Given the description of an element on the screen output the (x, y) to click on. 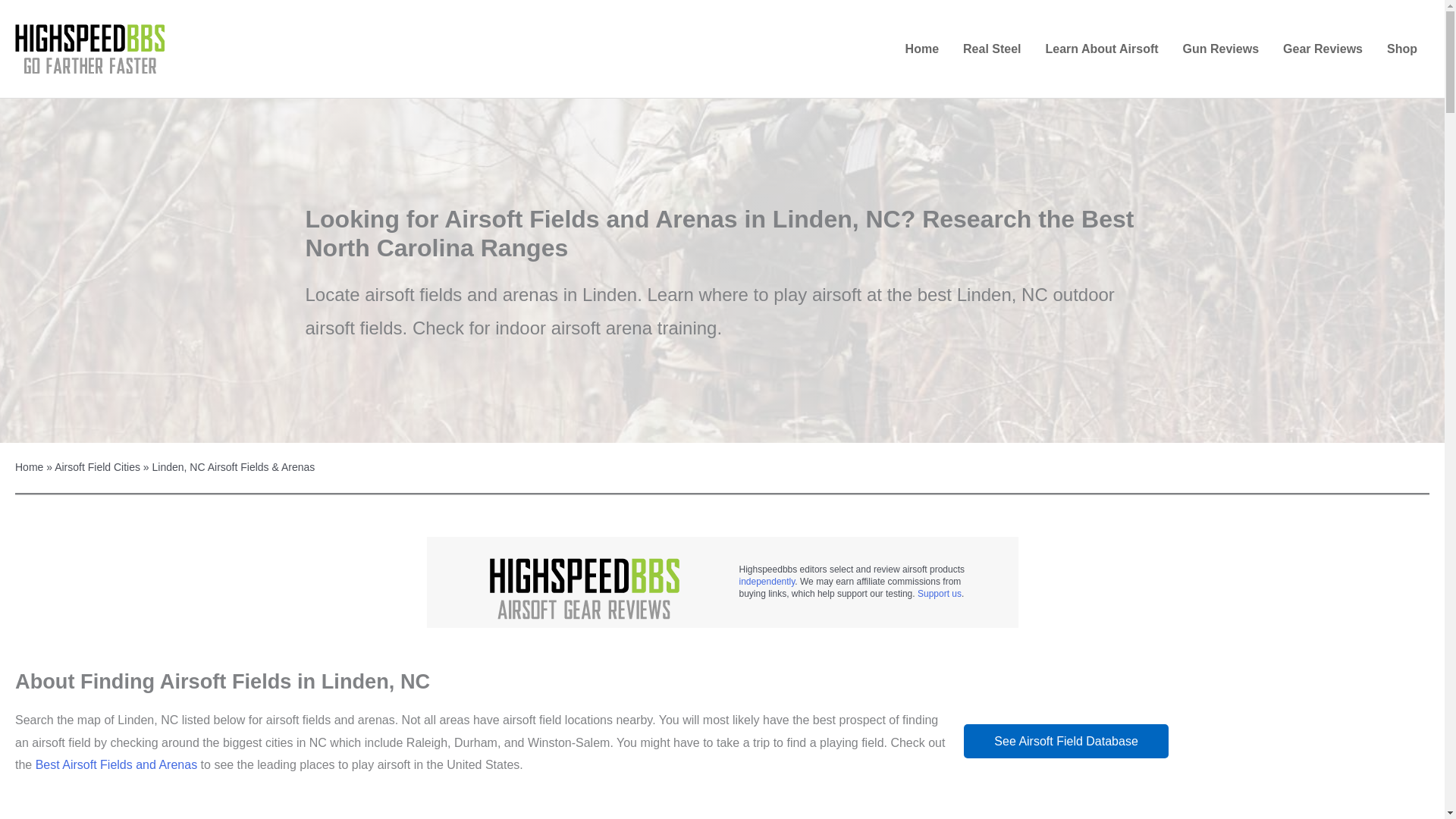
Home (921, 49)
Gear Reviews (1322, 49)
Learn About Airsoft (1101, 49)
Real Steel (991, 49)
Gun Reviews (1220, 49)
